Given the description of an element on the screen output the (x, y) to click on. 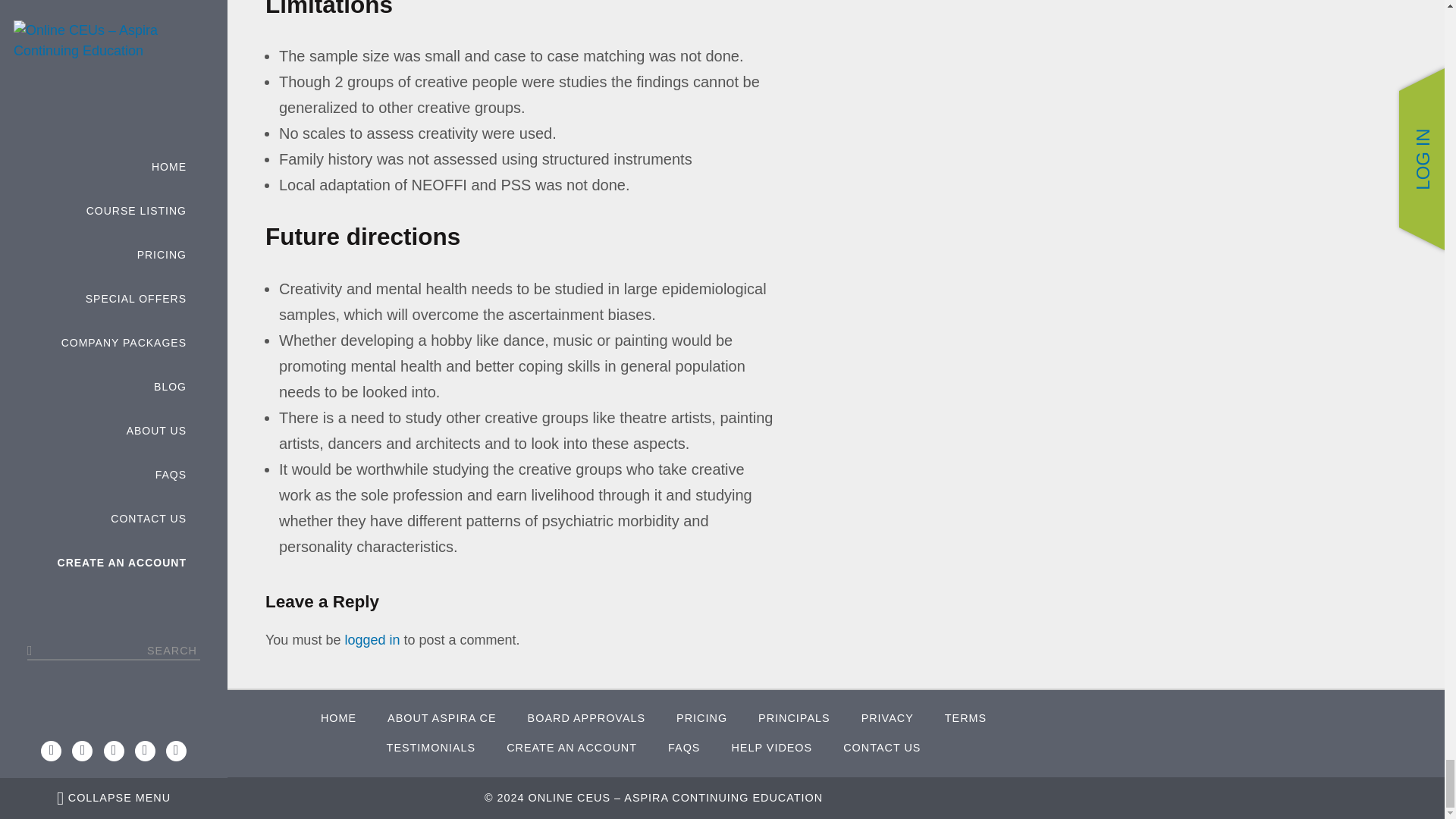
logged in (370, 639)
HOME (338, 718)
